Given the description of an element on the screen output the (x, y) to click on. 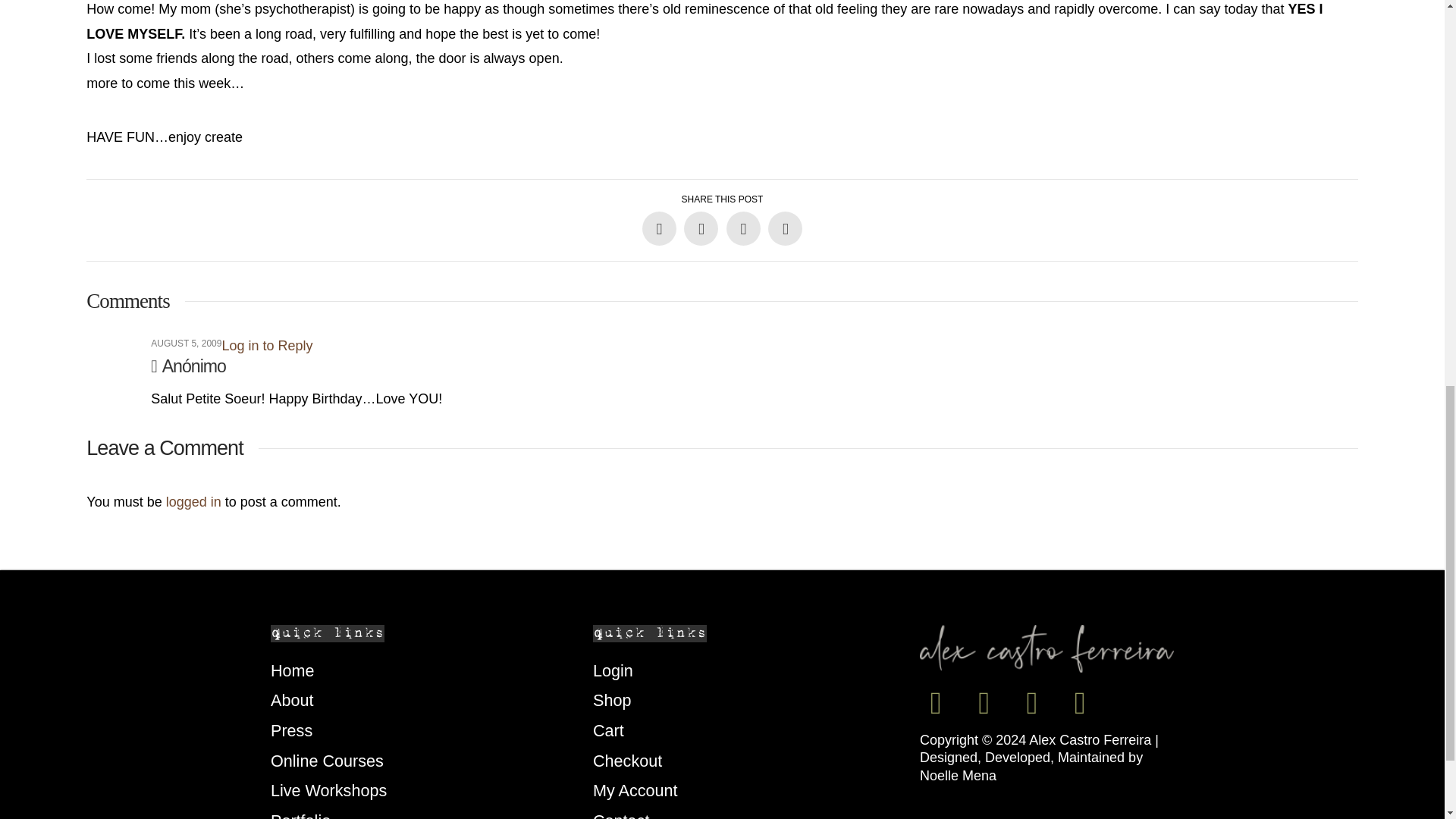
About (428, 700)
Press (428, 730)
Share on Pinterest (743, 228)
Cart (750, 730)
My Account (750, 790)
Share on X (700, 228)
Designed, Developed, Maintained by Noelle Mena (1031, 766)
Log in to Reply (267, 345)
Portfolio (428, 812)
Share on Facebook (659, 228)
